Given the description of an element on the screen output the (x, y) to click on. 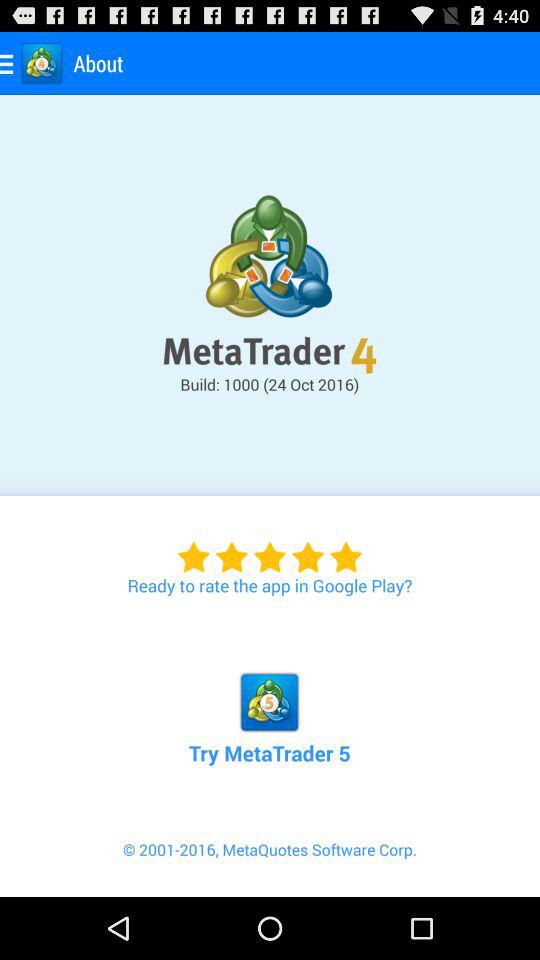
flip to ready to rate (269, 545)
